Given the description of an element on the screen output the (x, y) to click on. 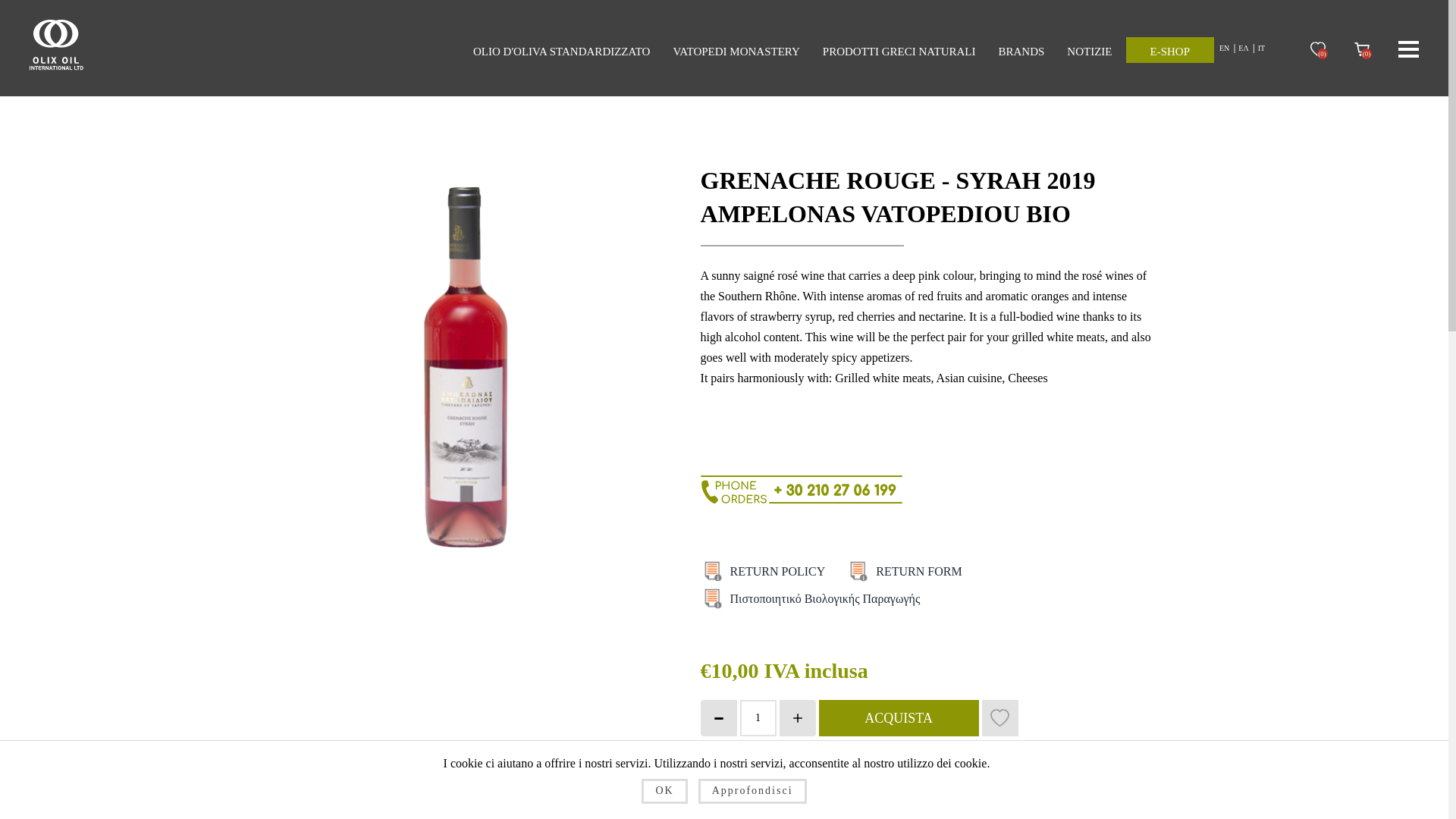
1 (757, 718)
it (918, 571)
E-SHOP (1169, 49)
it (713, 571)
English (1224, 50)
Aggiungi alla lista dei desideri (999, 718)
it (858, 571)
BRANDS (1020, 54)
VATOPEDI MONASTERY (735, 54)
Italian (1260, 50)
